Given the description of an element on the screen output the (x, y) to click on. 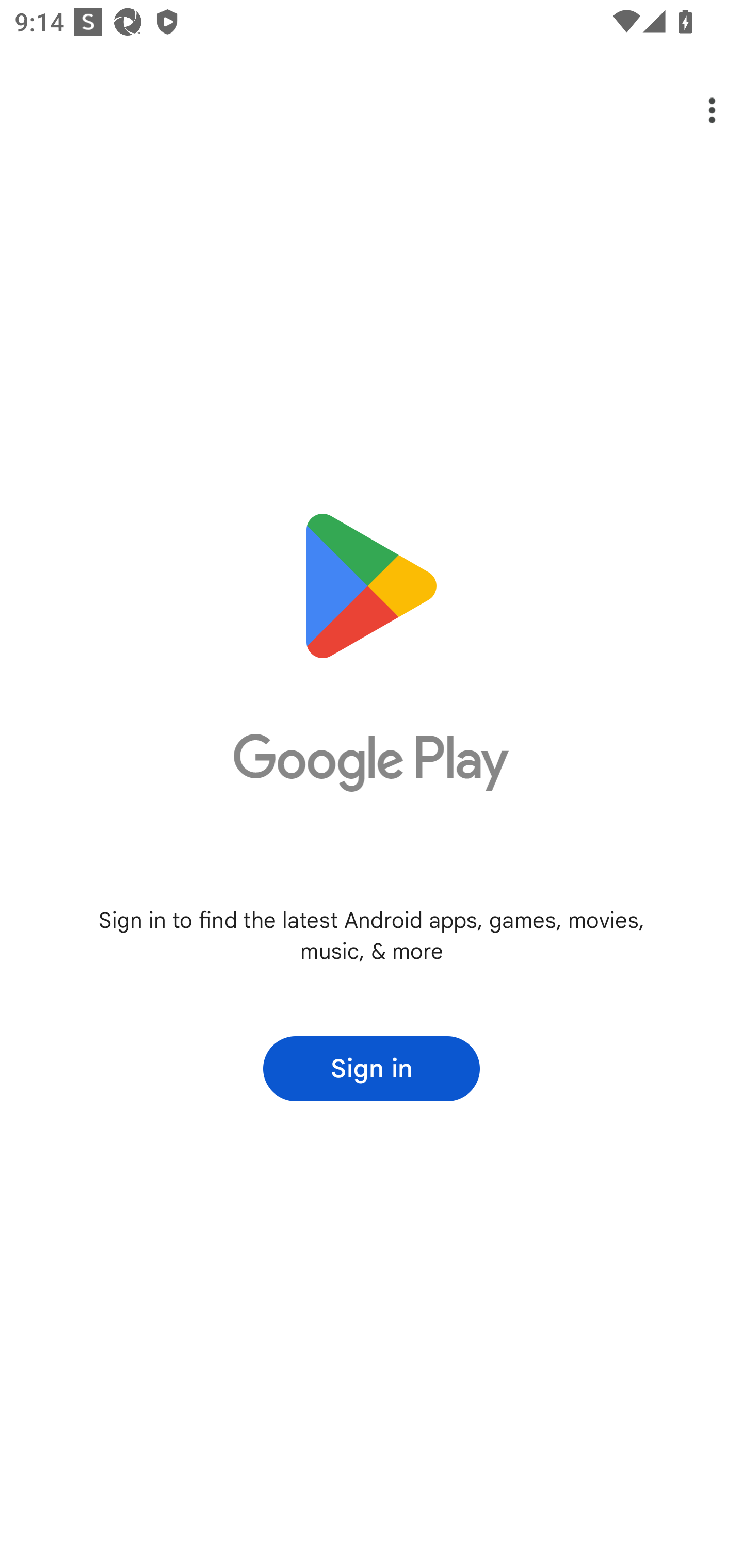
Options (697, 110)
Sign in (371, 1068)
